Given the description of an element on the screen output the (x, y) to click on. 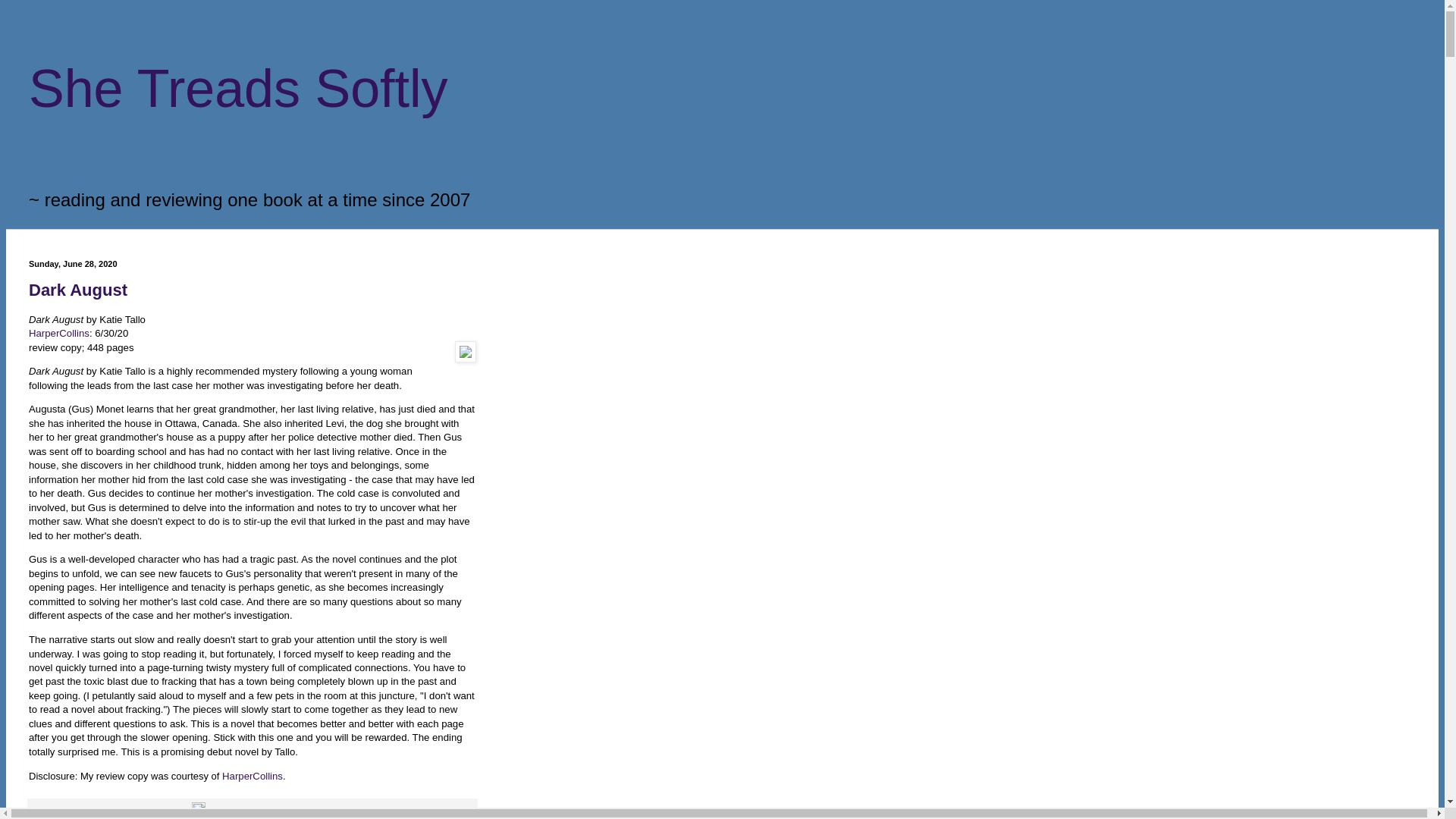
HarperCollins (58, 333)
She Treads Softly (238, 87)
No comments: (164, 812)
author profile (85, 812)
HarperCollins (252, 776)
permanent link (119, 812)
Dark August (78, 289)
Edit Post (198, 812)
Lori L (85, 812)
